Given the description of an element on the screen output the (x, y) to click on. 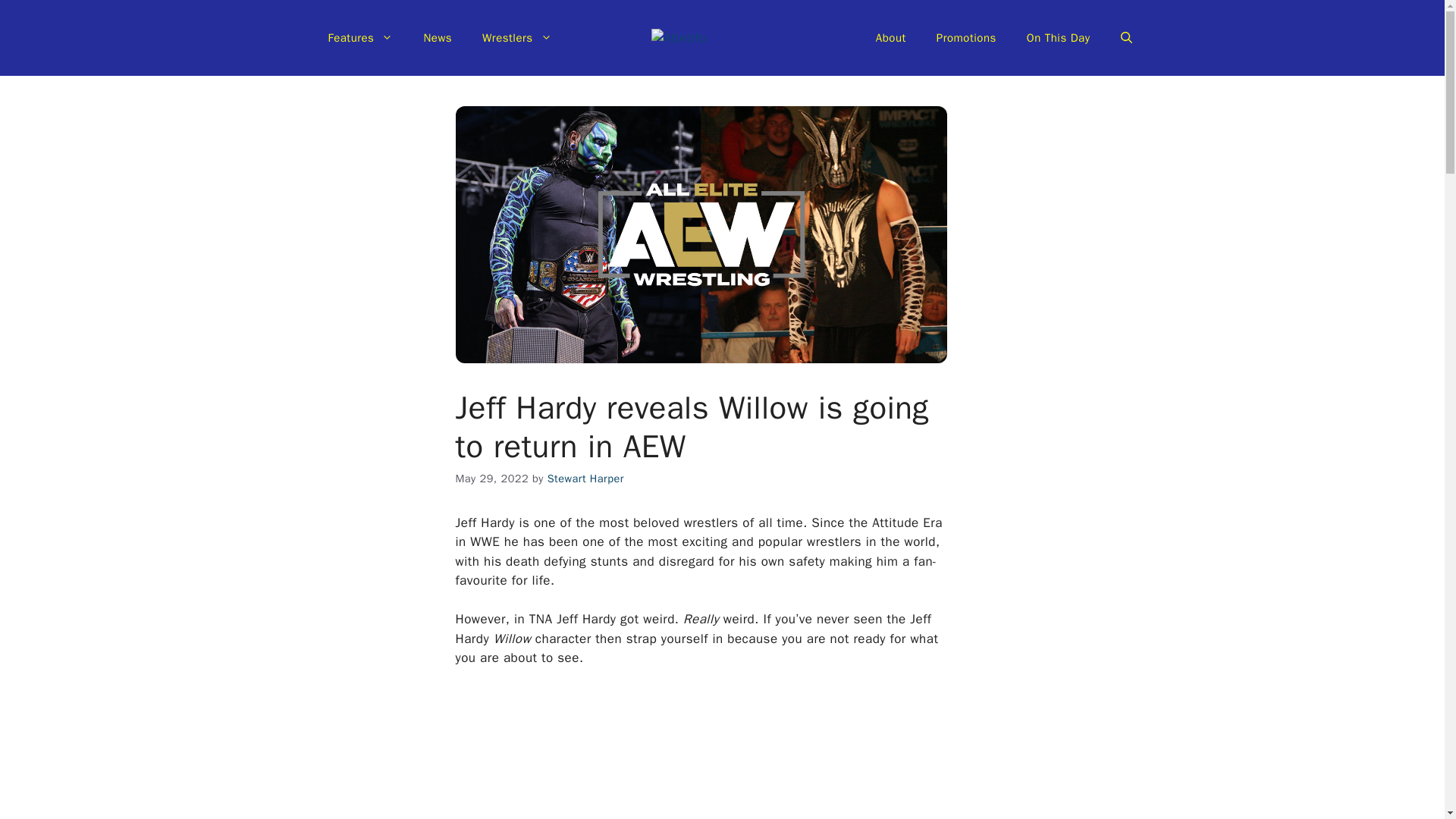
Willow - Impact Debut (700, 753)
About (890, 37)
Promotions (966, 37)
Features (360, 37)
Stewart Harper (585, 478)
View all posts by Stewart Harper (585, 478)
On This Day (1058, 37)
News (437, 37)
Wrestlers (517, 37)
